Given the description of an element on the screen output the (x, y) to click on. 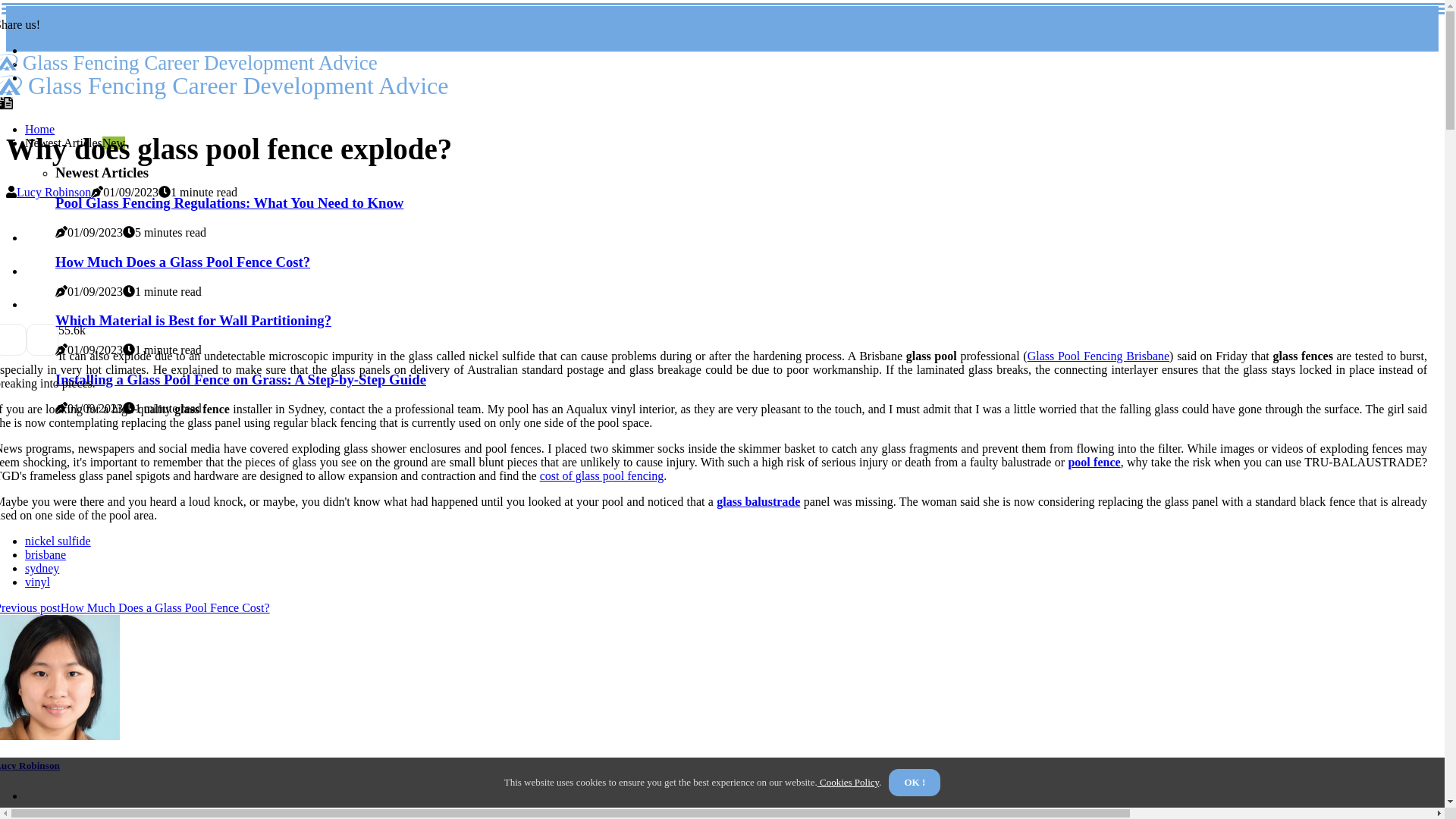
cost of glass pool fencing Element type: text (601, 475)
pool fence Element type: text (1093, 461)
Cookies Policy Element type: text (848, 781)
Which Material is Best for Wall Partitioning? Element type: text (193, 320)
5 Element type: text (61, 329)
glass balustrade Element type: text (758, 501)
Home Element type: text (39, 128)
vinyl Element type: text (37, 581)
Lucy Robinson Element type: text (53, 191)
brisbane Element type: text (45, 554)
How Much Does a Glass Pool Fence Cost? Element type: text (182, 261)
Pool Glass Fencing Regulations: What You Need to Know Element type: text (229, 202)
Newest ArticlesNew Element type: text (75, 142)
nickel sulfide Element type: text (58, 540)
sydney Element type: text (42, 567)
Glass Pool Fencing Brisbane Element type: text (1098, 355)
Installing a Glass Pool Fence on Grass: A Step-by-Step Guide Element type: text (240, 379)
